Given the description of an element on the screen output the (x, y) to click on. 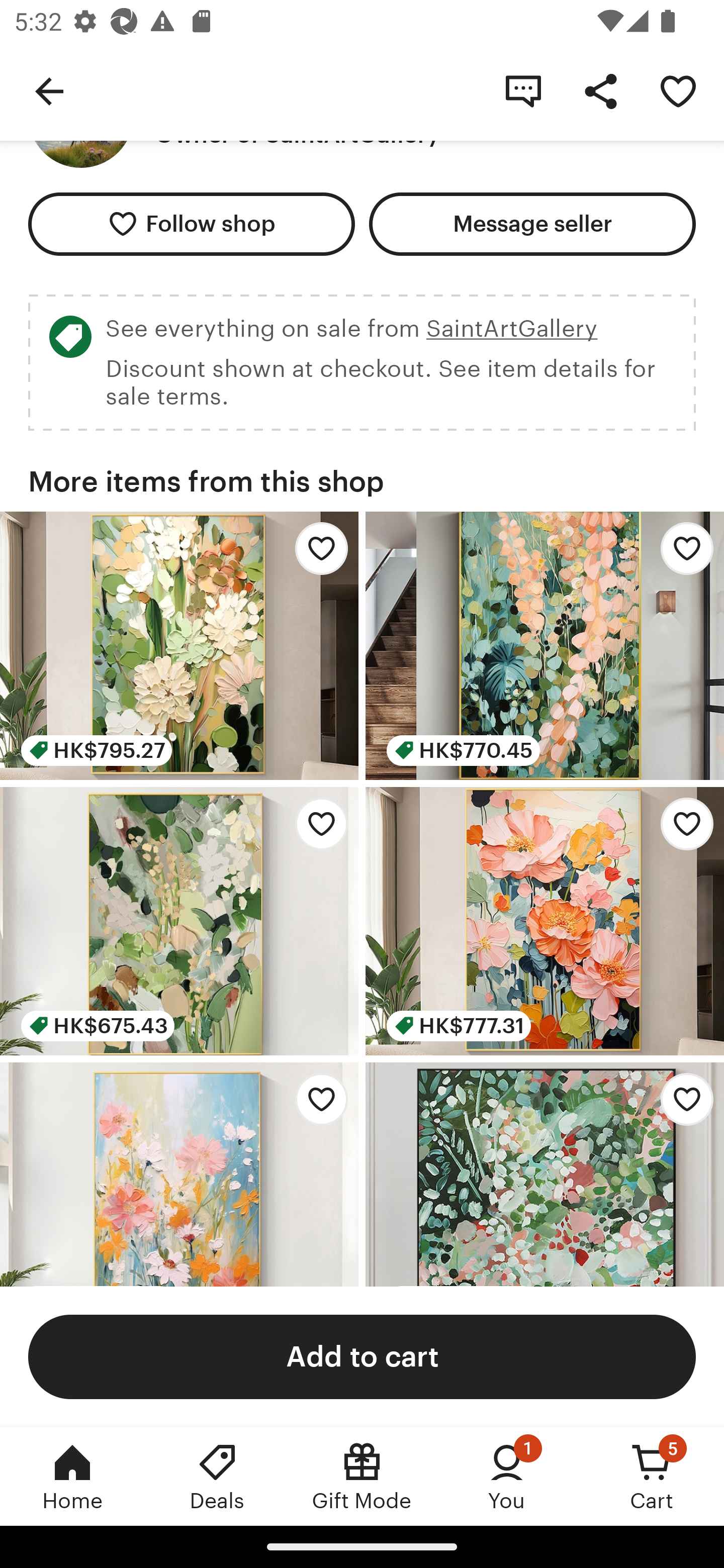
Navigate up (49, 90)
Contact shop (523, 90)
Share (600, 90)
Follow shop Follow SaintArtGallery (191, 223)
Message seller (532, 223)
Add to cart (361, 1355)
Deals (216, 1475)
Gift Mode (361, 1475)
You, 1 new notification You (506, 1475)
Cart, 5 new notifications Cart (651, 1475)
